Given the description of an element on the screen output the (x, y) to click on. 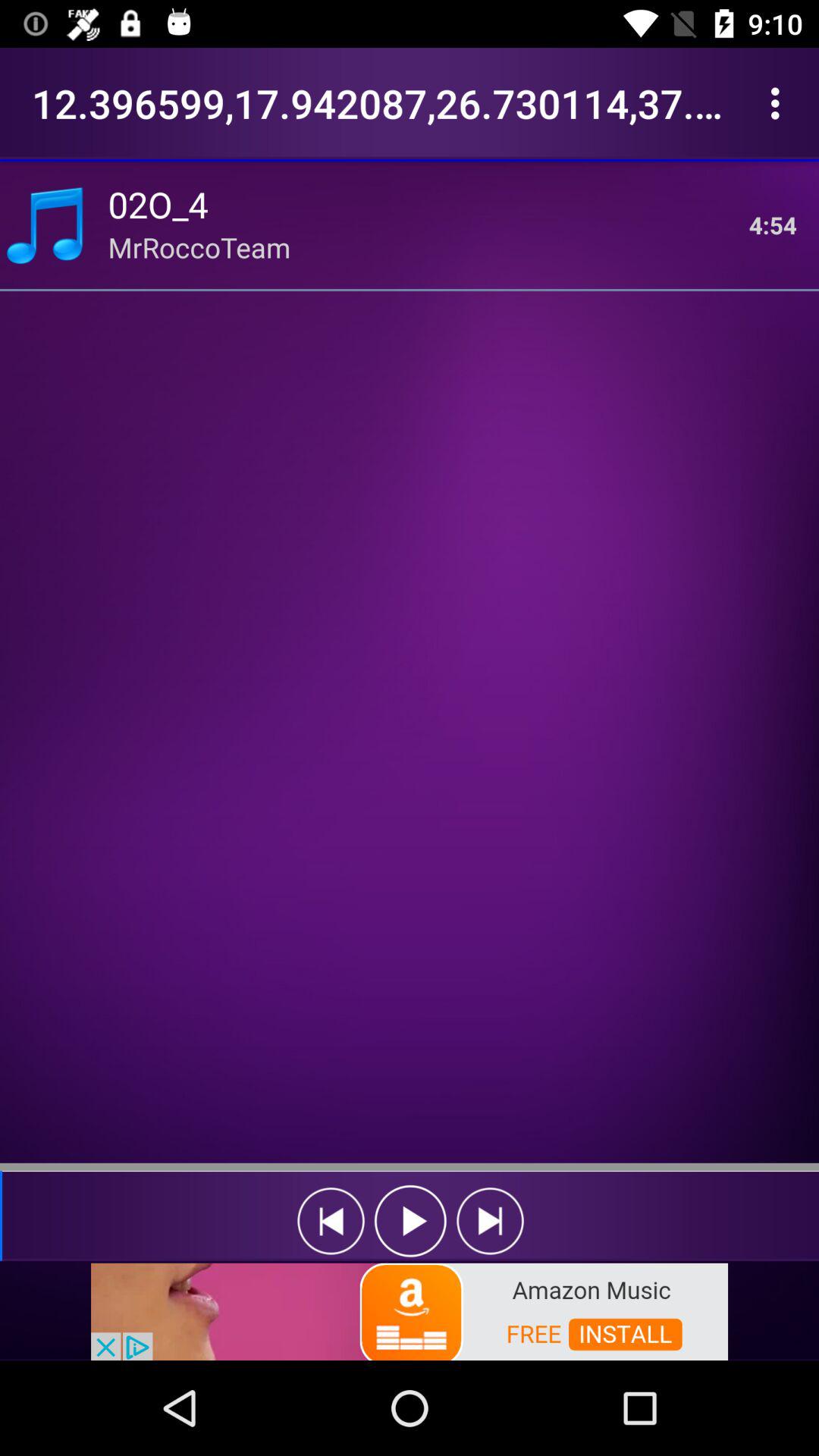
play (410, 1220)
